Given the description of an element on the screen output the (x, y) to click on. 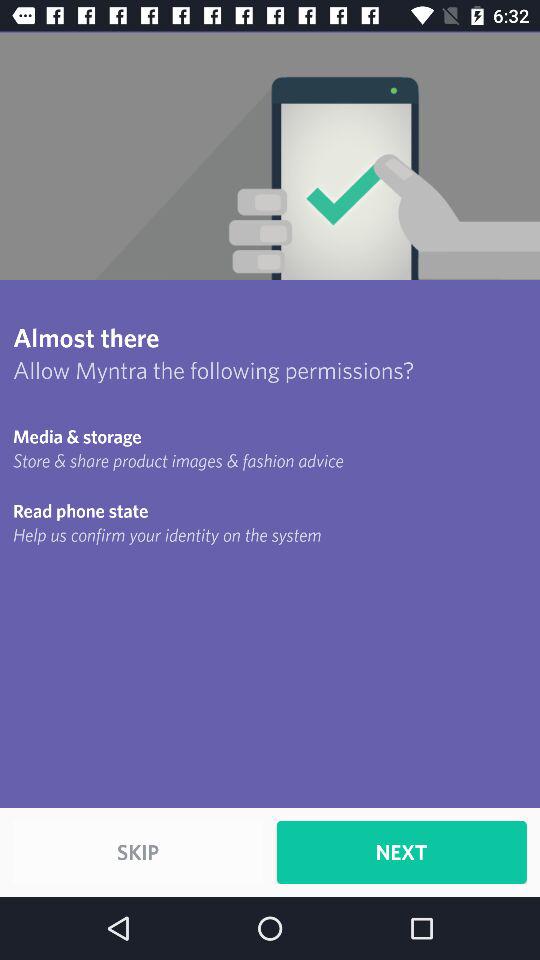
turn off icon next to next item (138, 851)
